Given the description of an element on the screen output the (x, y) to click on. 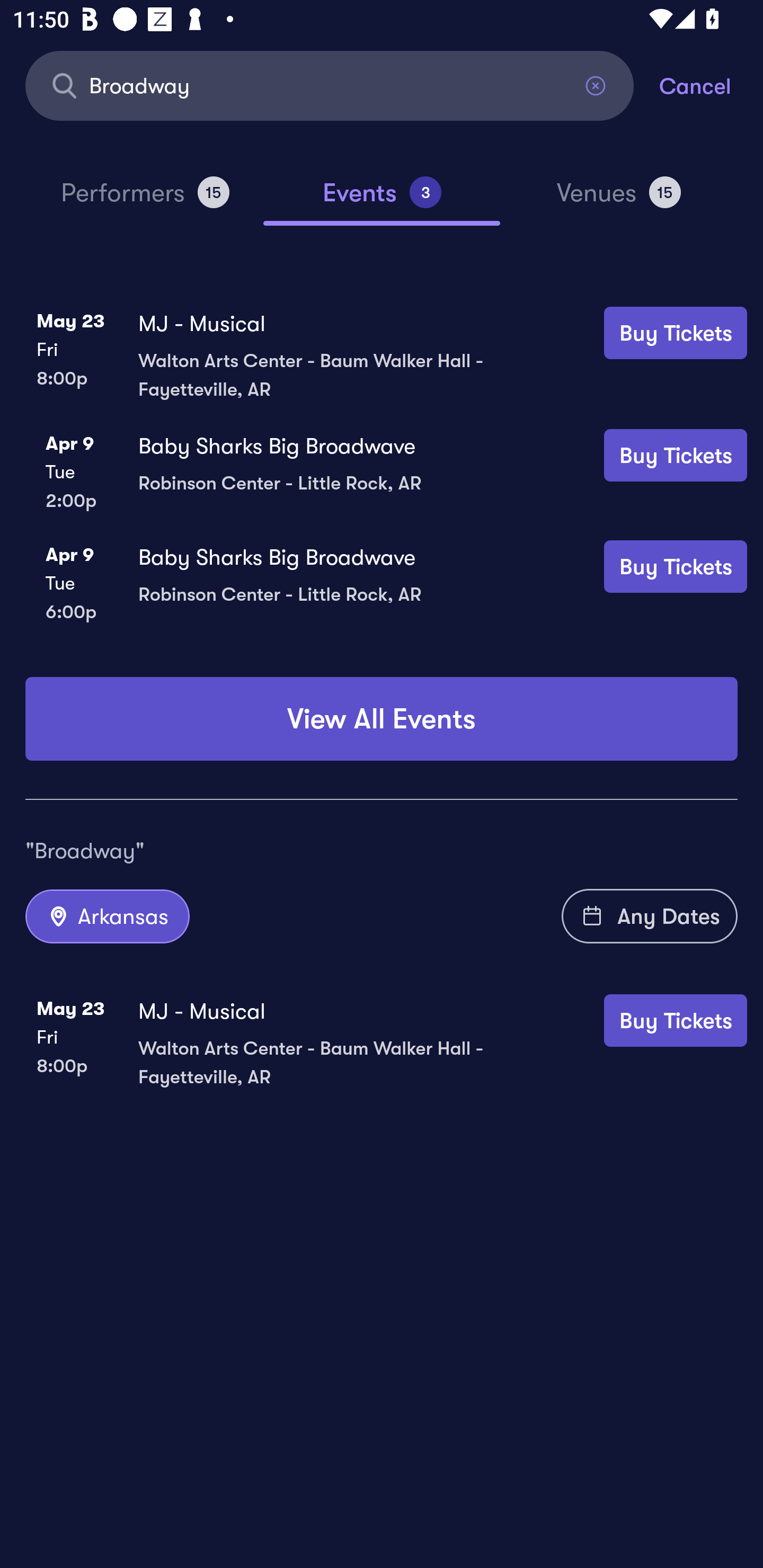
Broadway Find (329, 85)
Broadway Find (329, 85)
Cancel (711, 85)
Performers 15 (144, 200)
Events 3 (381, 200)
Venues 15 (618, 200)
View All Events (381, 718)
Any Dates (649, 916)
Arkansas (107, 916)
